Given the description of an element on the screen output the (x, y) to click on. 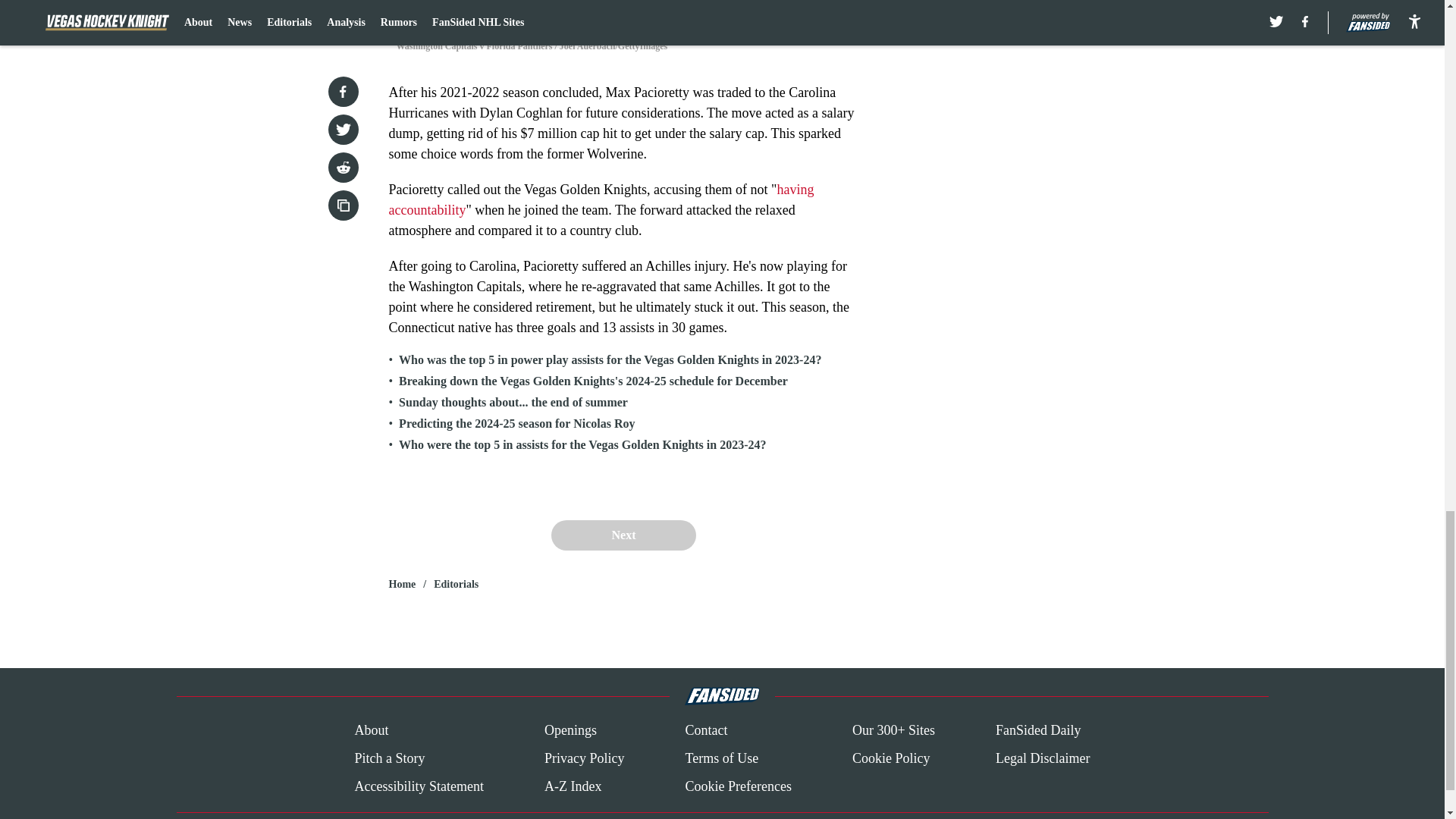
Terms of Use (721, 758)
Sunday thoughts about... the end of summer (512, 402)
Editorials (456, 584)
Predicting the 2024-25 season for Nicolas Roy (516, 423)
Cookie Policy (890, 758)
About (370, 730)
Home (401, 584)
Pitch a Story (389, 758)
